Given the description of an element on the screen output the (x, y) to click on. 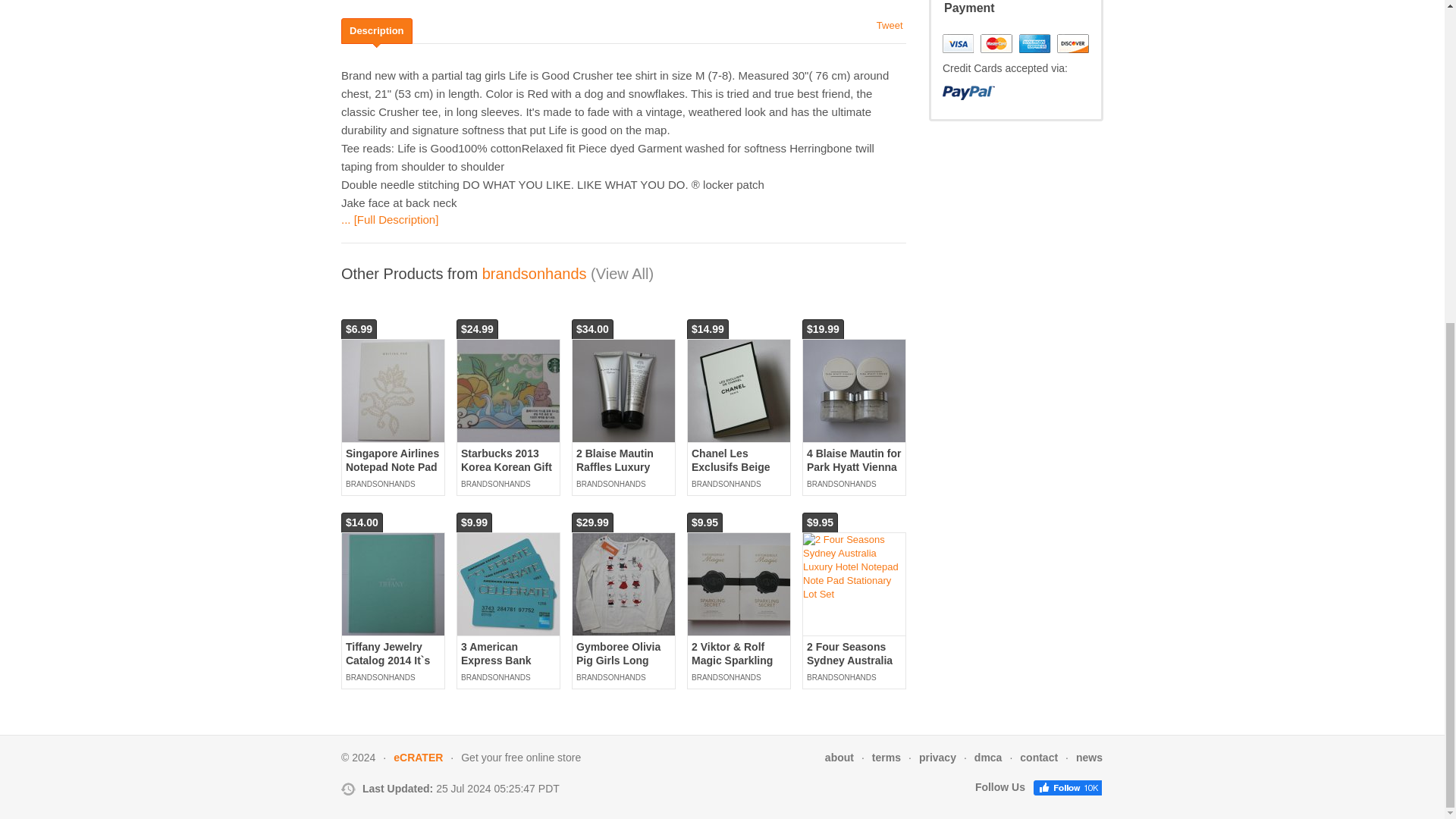
Singapore Airlines Notepad Note Pad (392, 460)
Singapore Airlines Notepad Note Pad (393, 390)
